Given the description of an element on the screen output the (x, y) to click on. 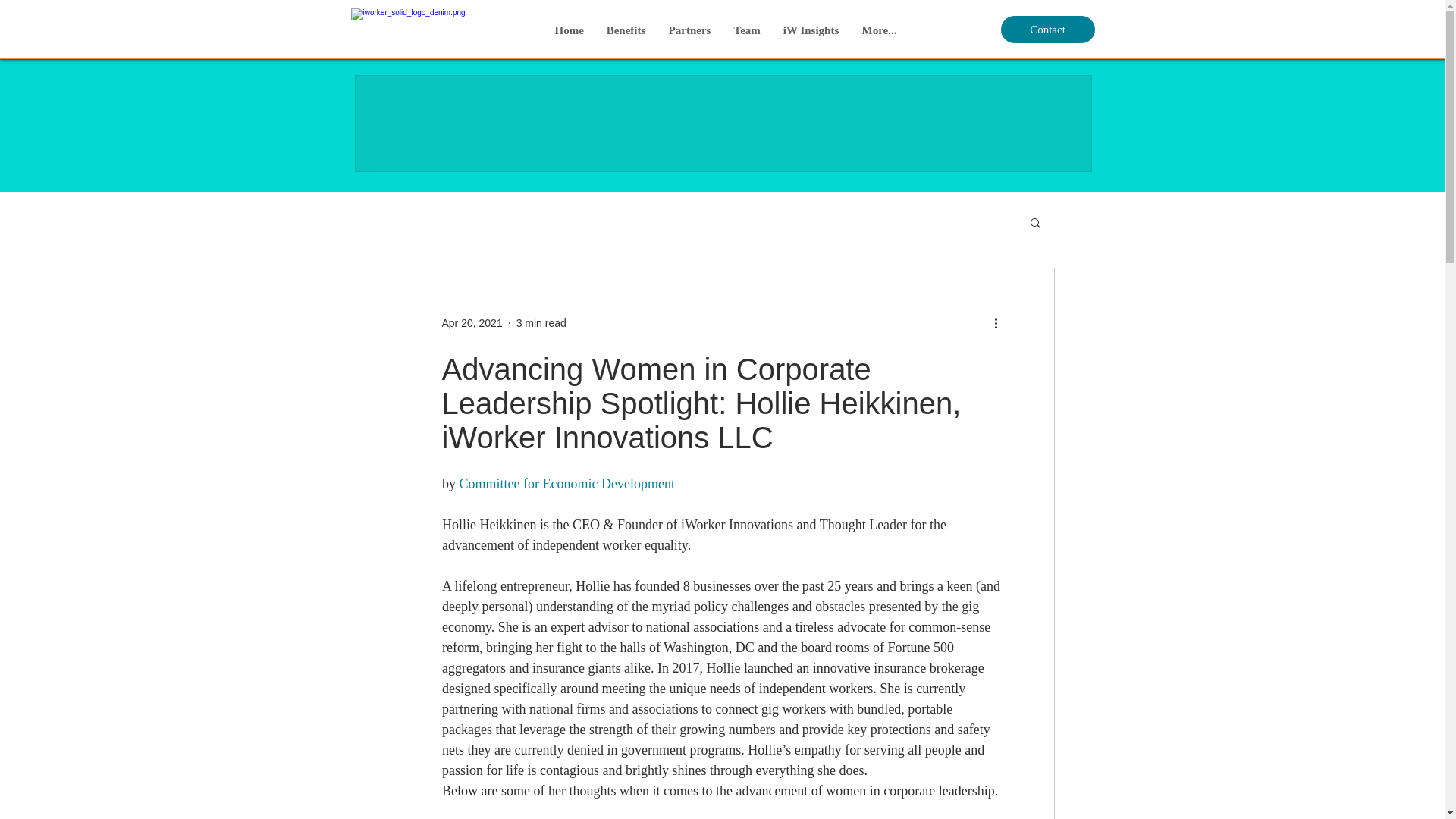
Contact (1047, 29)
iW Insights (810, 30)
iWorker logo (414, 28)
3 min read (541, 322)
Benefits (625, 30)
Partners (689, 30)
Home (568, 30)
Committee for Economic Development (566, 483)
Apr 20, 2021 (471, 322)
Team (746, 30)
